Given the description of an element on the screen output the (x, y) to click on. 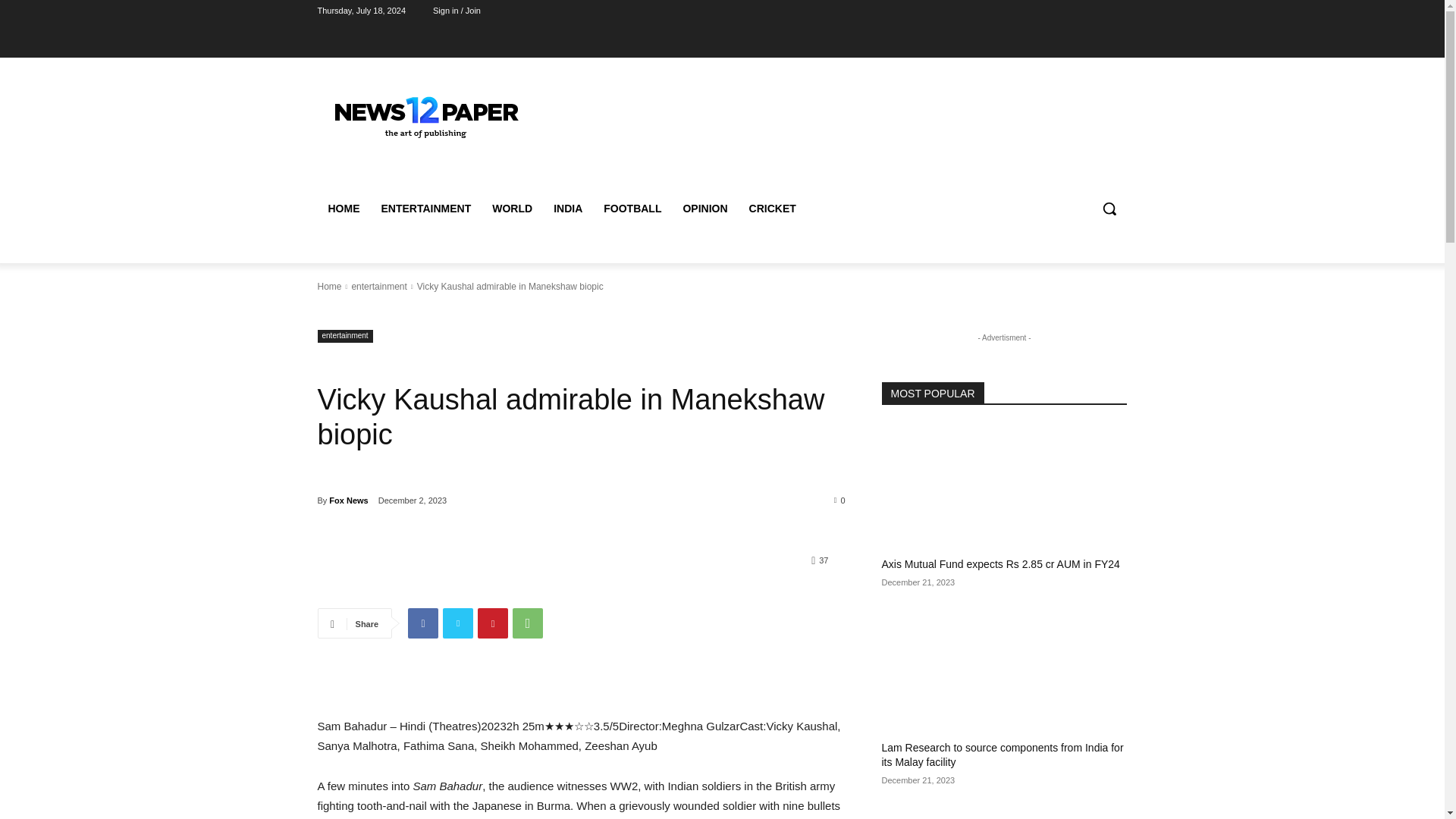
INDIA (567, 208)
Fox News (348, 499)
ENTERTAINMENT (425, 208)
OPINION (704, 208)
entertainment (344, 336)
Facebook (422, 623)
Home (328, 286)
Pinterest (492, 623)
0 (839, 499)
FOOTBALL (631, 208)
Twitter (457, 623)
WORLD (512, 208)
HOME (343, 208)
CRICKET (772, 208)
View all posts in entertainment (378, 286)
